Given the description of an element on the screen output the (x, y) to click on. 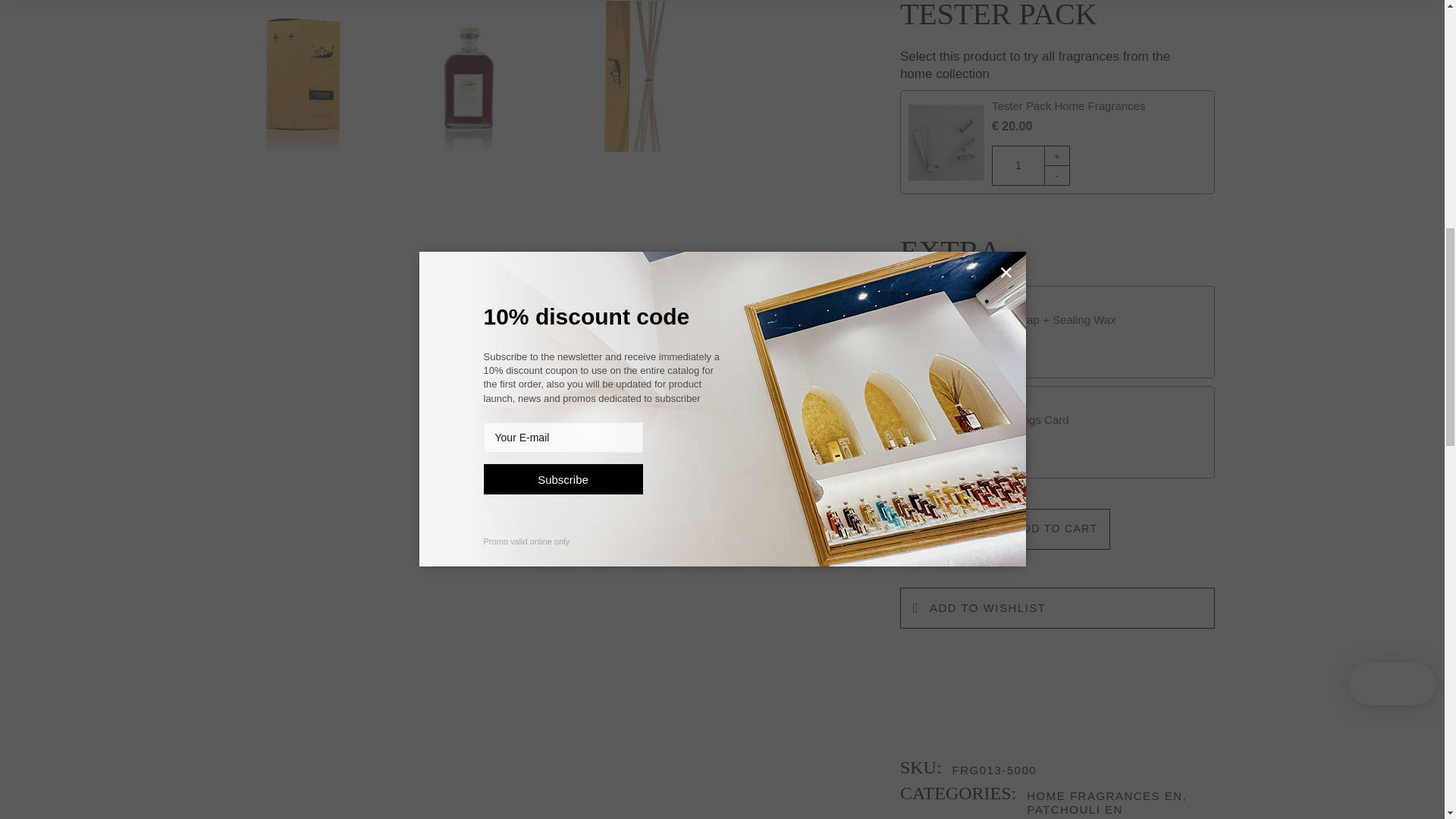
muschieri-venezia-home-fragrance-patchouli-e-spezie-rare (304, 75)
PayPal (1057, 656)
1 (926, 528)
1 (1018, 165)
bamboo naturale muschieri venezia (631, 75)
muschieri-venezia-patchouli-e-spezie-rare (468, 75)
Qty (926, 528)
Qty (1018, 165)
